Given the description of an element on the screen output the (x, y) to click on. 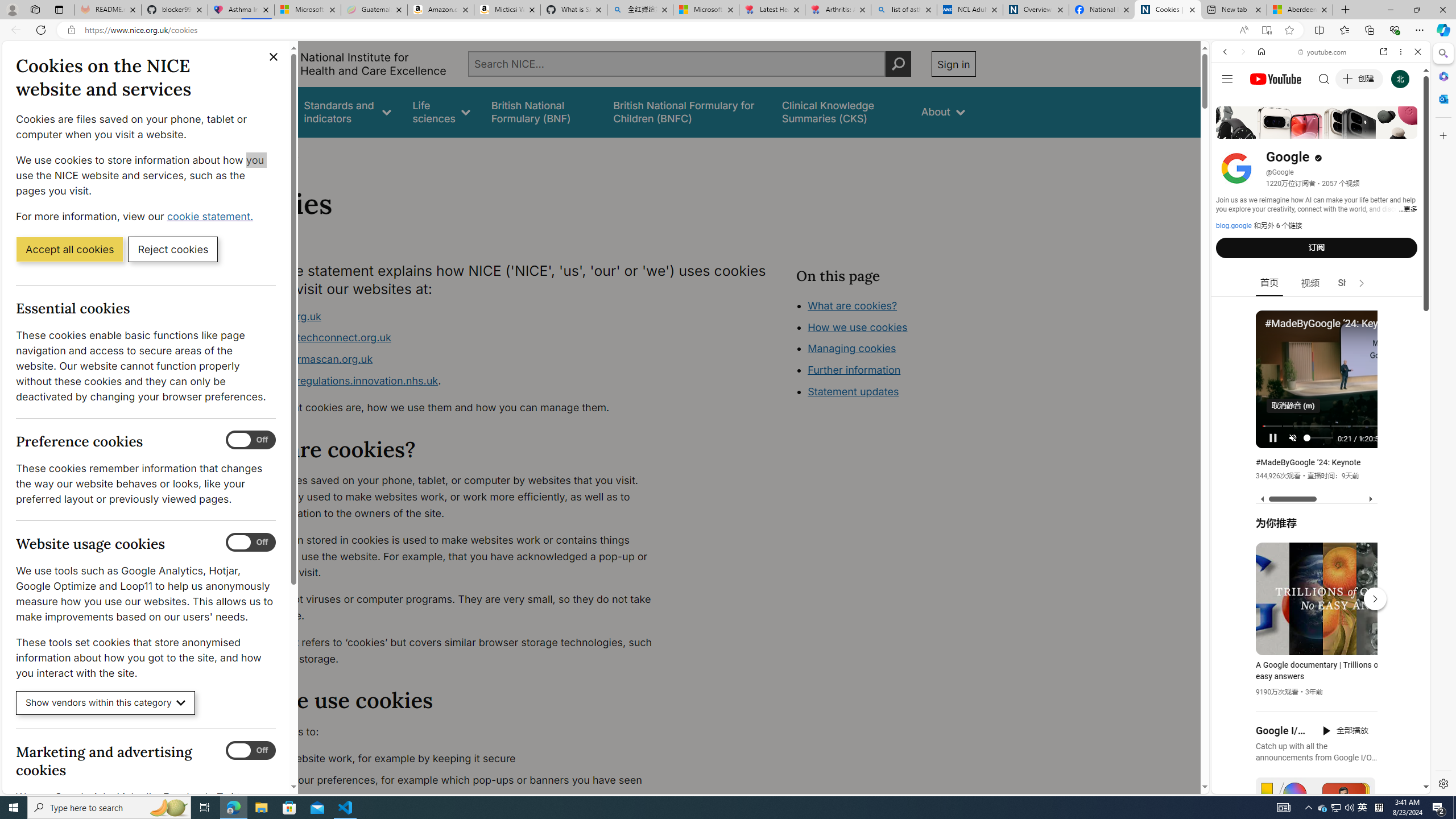
www.ukpharmascan.org.uk (452, 359)
Class: b_serphb (1404, 130)
Preference cookies (250, 439)
Home> (246, 152)
WEB   (1230, 130)
Managing cookies (852, 348)
IMAGES (1262, 130)
NCL Adult Asthma Inhaler Choice Guideline (969, 9)
Search the web (1326, 78)
